Given the description of an element on the screen output the (x, y) to click on. 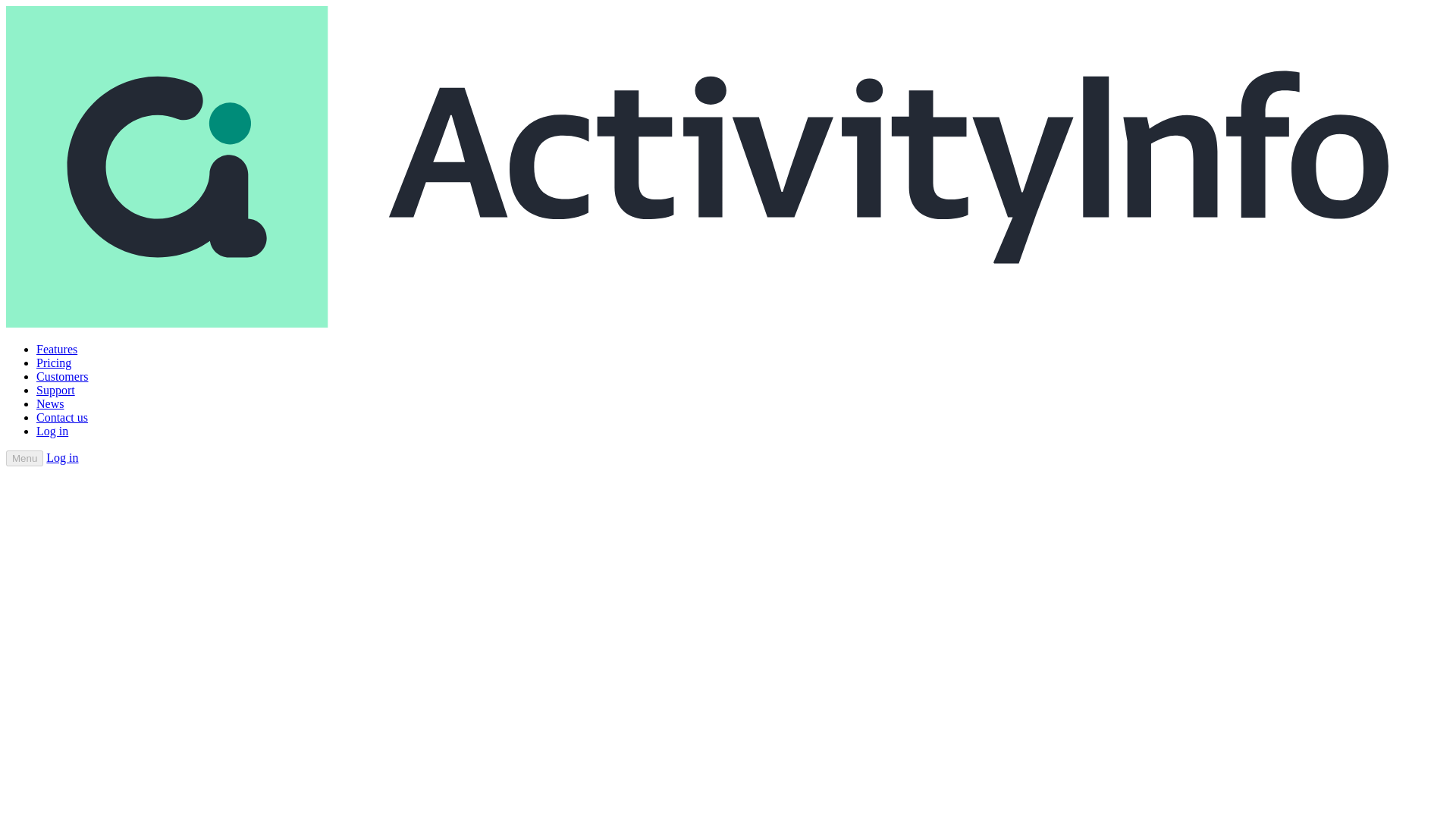
Features (56, 349)
Pricing (53, 362)
Support (55, 390)
Log in (52, 431)
Customers (61, 376)
News (50, 403)
Contact us (61, 417)
